Given the description of an element on the screen output the (x, y) to click on. 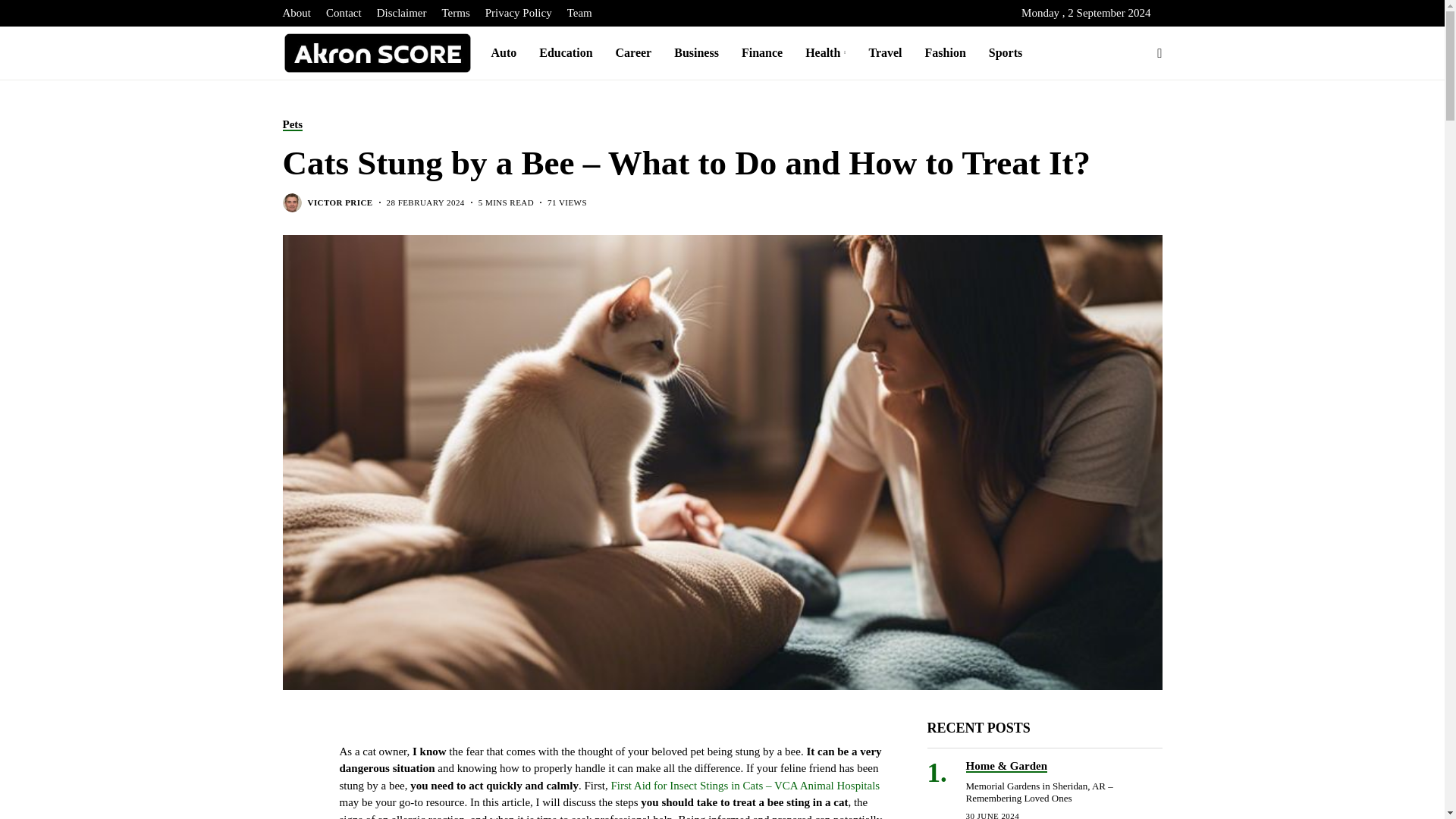
Posts by Victor Price (339, 203)
About (296, 13)
Education (565, 52)
Privacy Policy (517, 13)
Disclaimer (401, 13)
Team (579, 13)
Contact (343, 13)
Terms (454, 13)
